Given the description of an element on the screen output the (x, y) to click on. 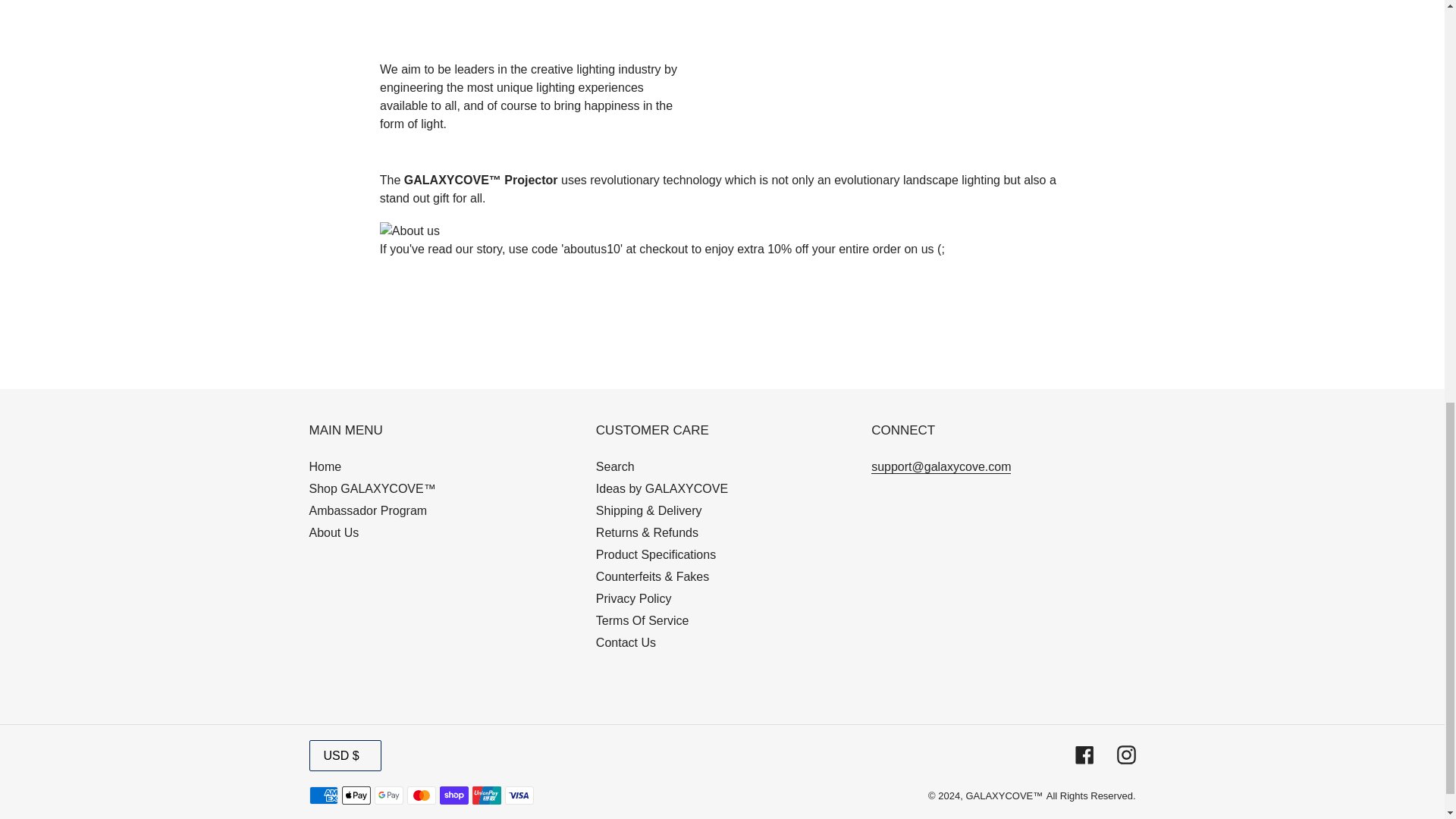
Ambassador Program (368, 510)
Search (614, 466)
Ideas by GALAXYCOVE (661, 488)
Terms Of Service (641, 620)
Product Specifications (655, 554)
About Us (333, 532)
Contact Us (625, 642)
Privacy Policy (633, 598)
Home (325, 466)
